Given the description of an element on the screen output the (x, y) to click on. 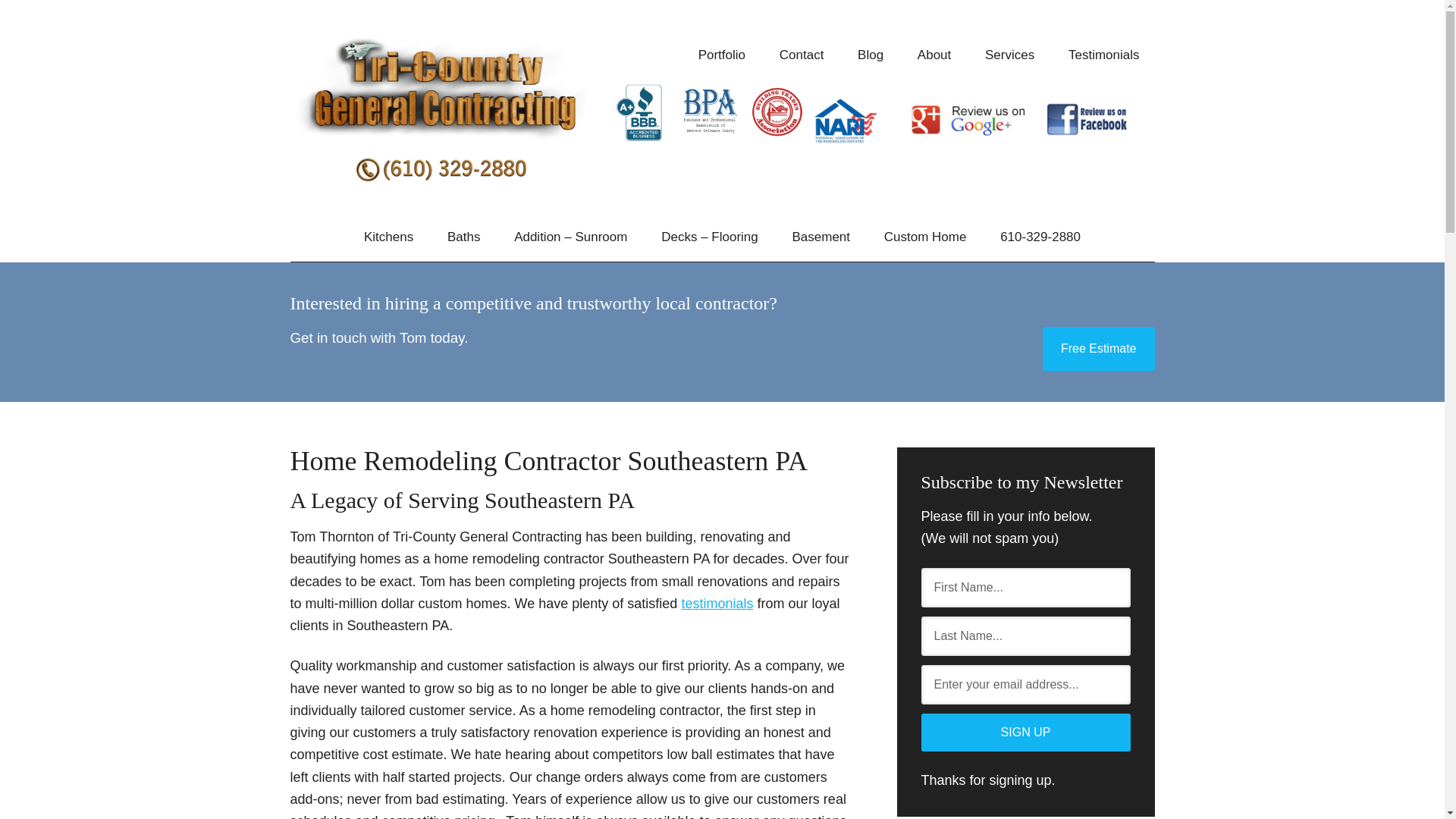
Testimonials (1103, 54)
Custom Home (925, 236)
SIGN UP (1024, 732)
Contact (802, 54)
Tri-County General Contracting - Home Remodeler (440, 89)
Kitchens (388, 236)
610-329-2880 (1040, 236)
Portfolio (721, 54)
Free Estimate (1098, 348)
Portfolio (1103, 54)
About (934, 54)
Basement (820, 236)
Services (1009, 54)
Tri-County General Contracting - Home Remodeler (440, 91)
Blog (870, 54)
